Given the description of an element on the screen output the (x, y) to click on. 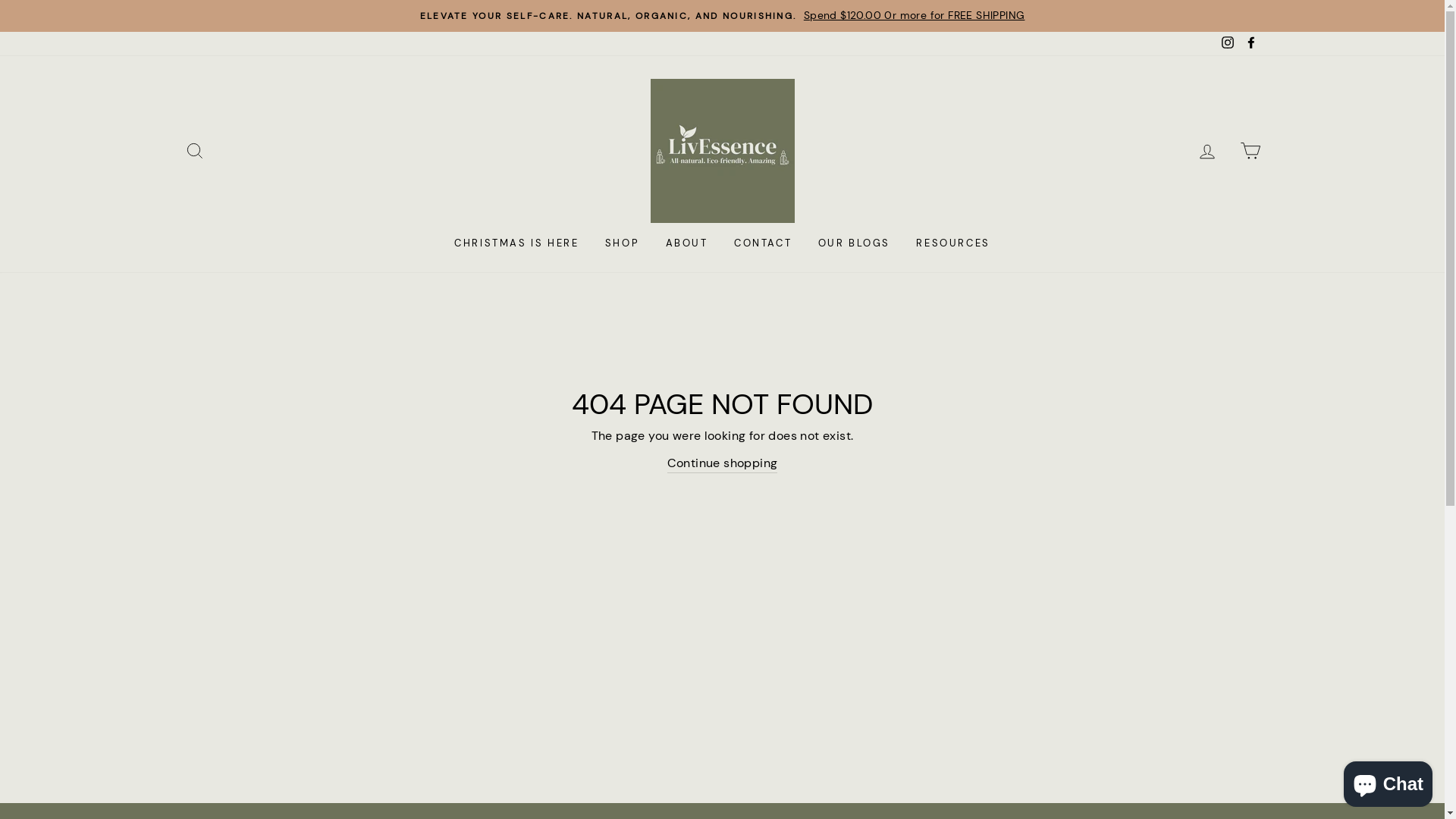
CONTACT Element type: text (762, 243)
ABOUT Element type: text (686, 243)
CHRISTMAS IS HERE Element type: text (515, 243)
SEARCH Element type: text (193, 150)
OUR BLOGS Element type: text (853, 243)
Facebook Element type: text (1250, 43)
Continue shopping Element type: text (722, 463)
Shopify online store chat Element type: hover (1388, 780)
Instagram Element type: text (1227, 43)
LOG IN Element type: text (1206, 150)
RESOURCES Element type: text (952, 243)
CART Element type: text (1249, 150)
Skip to content Element type: text (0, 0)
SHOP Element type: text (621, 243)
